Given the description of an element on the screen output the (x, y) to click on. 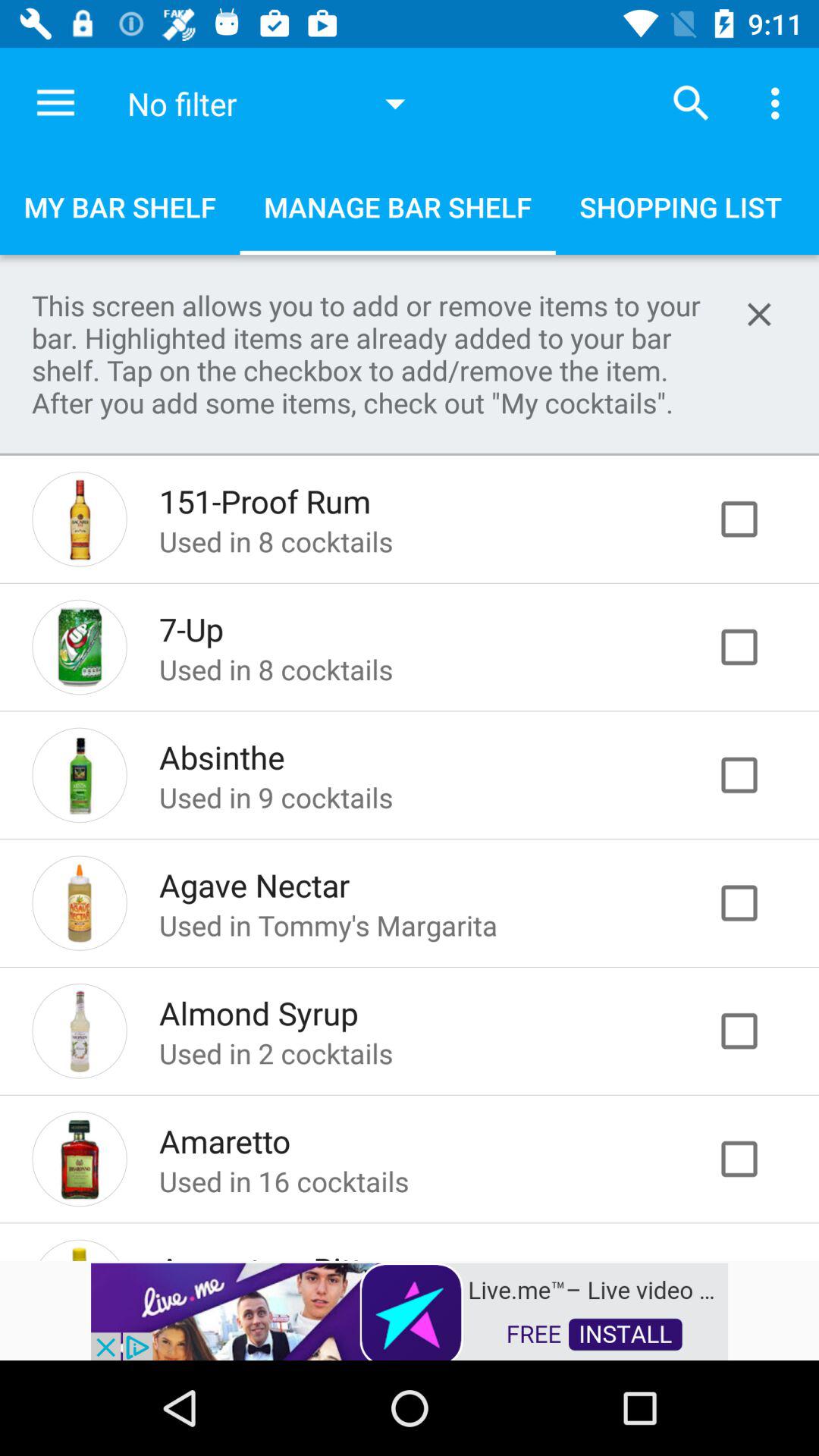
choosing advertisement (409, 1310)
